Given the description of an element on the screen output the (x, y) to click on. 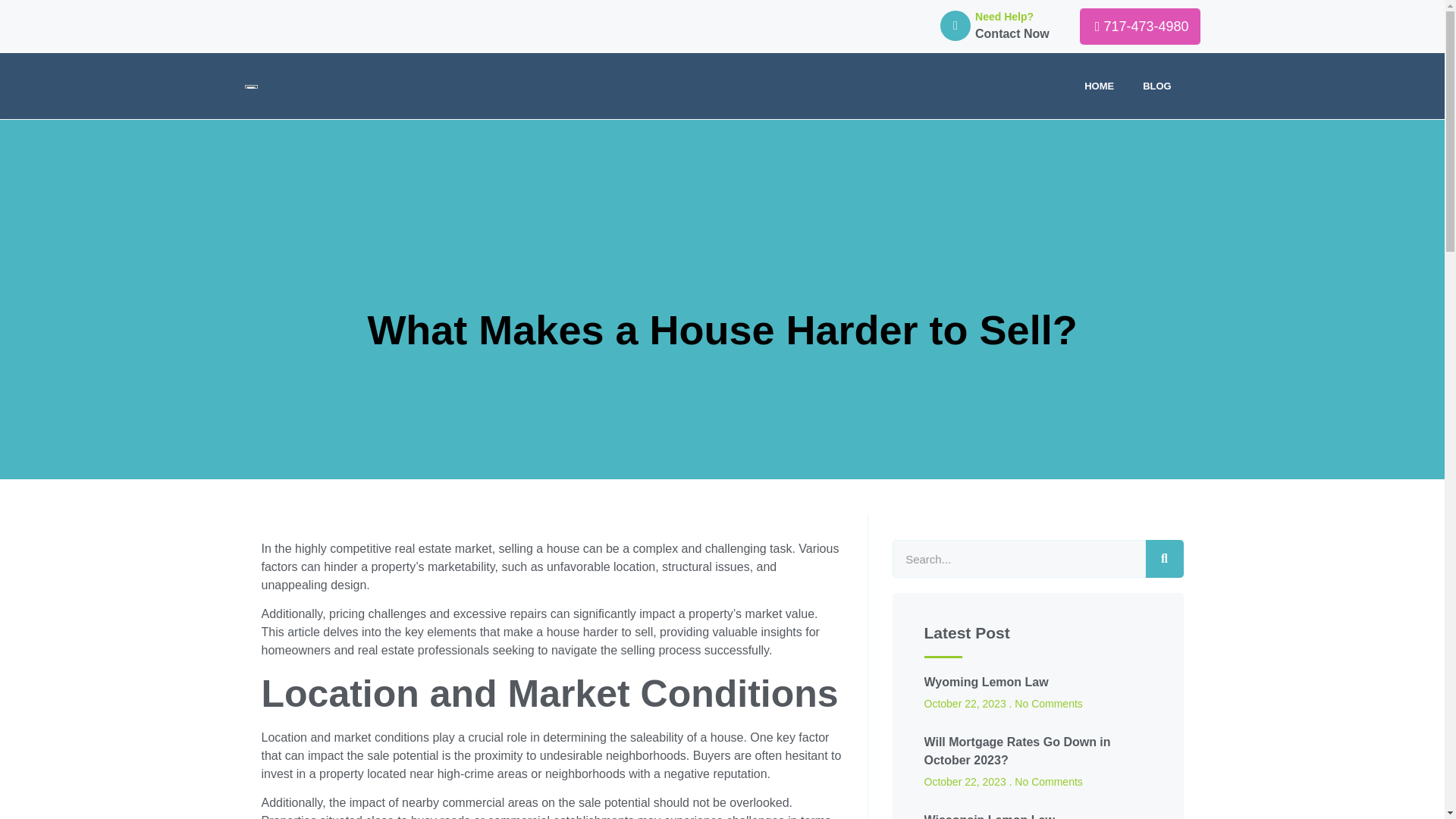
Search (1017, 558)
Will Mortgage Rates Go Down in October 2023? (1016, 750)
717-473-4980 (1139, 26)
Wisconsin Lemon Law (988, 816)
Search (1163, 558)
Wyoming Lemon Law (985, 681)
